Given the description of an element on the screen output the (x, y) to click on. 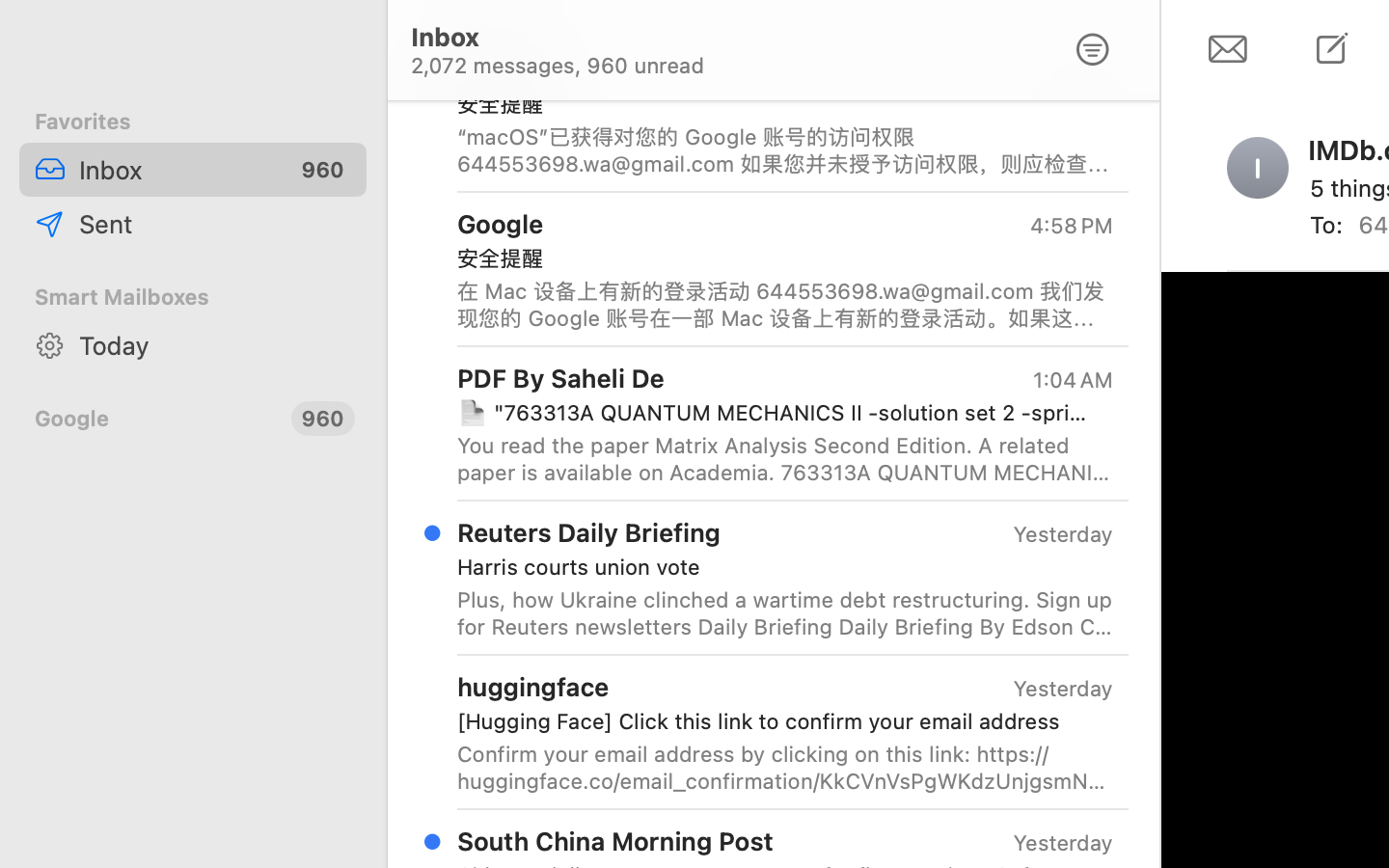
PDF By Saheli De Element type: AXStaticText (561, 377)
Reuters Daily Briefing Element type: AXStaticText (589, 531)
Confirm your email address by clicking on this link: https://huggingface.co/email_confirmation/KkCVnVsPgWKdzUnjgsmNfQwgnwKH If you didn't create a Hugging Face account, you can ignore this email. Hugging Face: The AI community building the future. Element type: AXStaticText (784, 767)
You read the paper Matrix Analysis Second Edition. A related paper is available on Academia. 763313A QUANTUM MECHANICS II -solution set 2 -spring 2014 Saheli De 237 Views View PDF ▸ Download PDF ⬇ Your recent reading history: Matrix Analysis Second Edition - Benedict Cui Want fewer recommendations like this one? 580 California St., Suite 400, San Francisco, CA, 94104 Unsubscribe Privacy Policy Terms of Service © 2024 Academia Element type: AXStaticText (784, 459)
Favorites Element type: AXStaticText (192, 121)
